Given the description of an element on the screen output the (x, y) to click on. 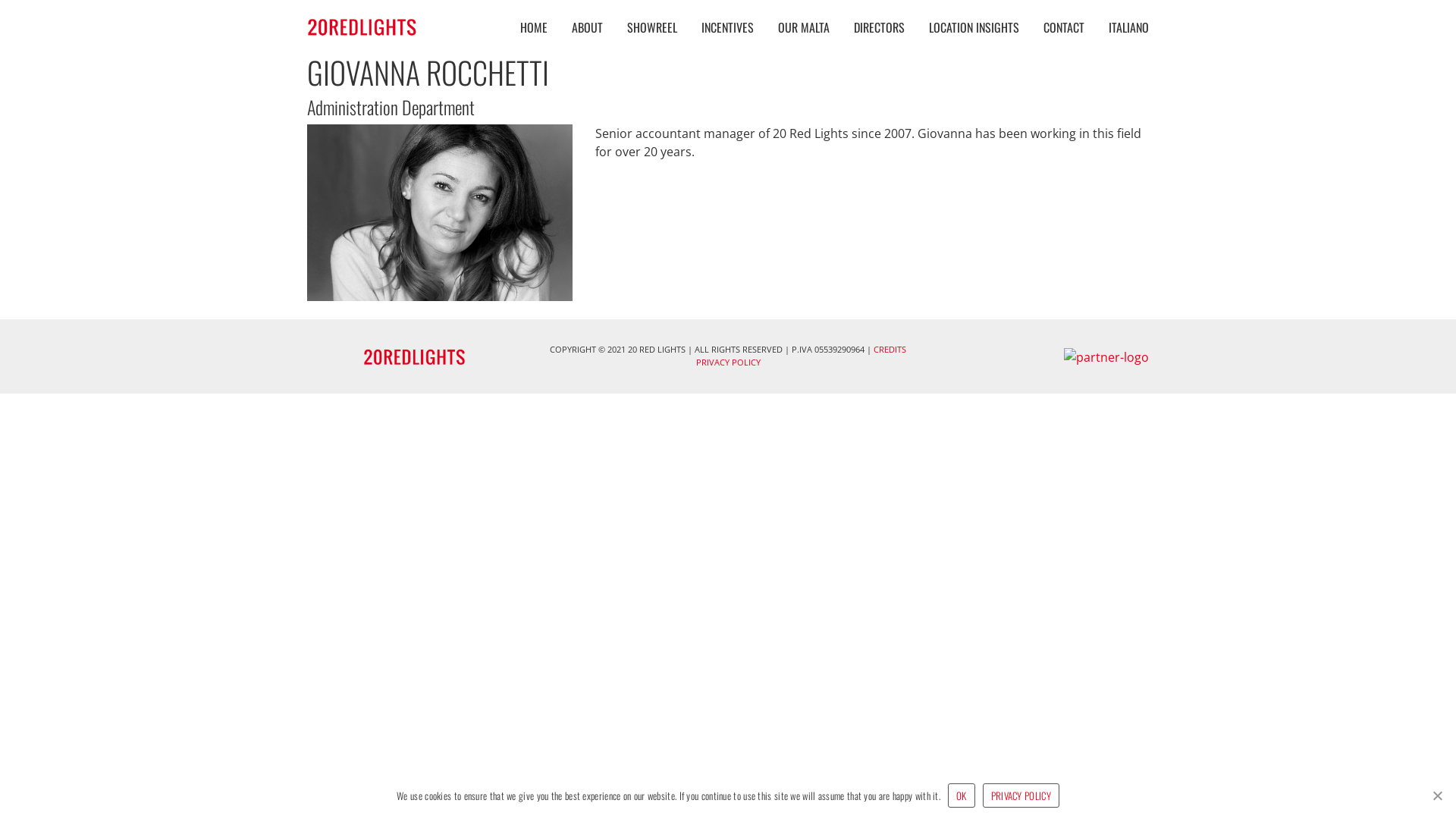
SHOWREEL Element type: text (652, 27)
OK Element type: text (961, 795)
ITALIANO Element type: text (1122, 27)
HOME Element type: text (533, 27)
INCENTIVES Element type: text (727, 27)
DIRECTORS Element type: text (878, 27)
ABOUT Element type: text (587, 27)
PRIVACY POLICY Element type: text (1020, 795)
PRIVACY POLICY Element type: text (728, 361)
CONTACT Element type: text (1063, 27)
CREDITS Element type: text (889, 348)
LOCATION INSIGHTS Element type: text (973, 27)
OUR MALTA Element type: text (803, 27)
